Given the description of an element on the screen output the (x, y) to click on. 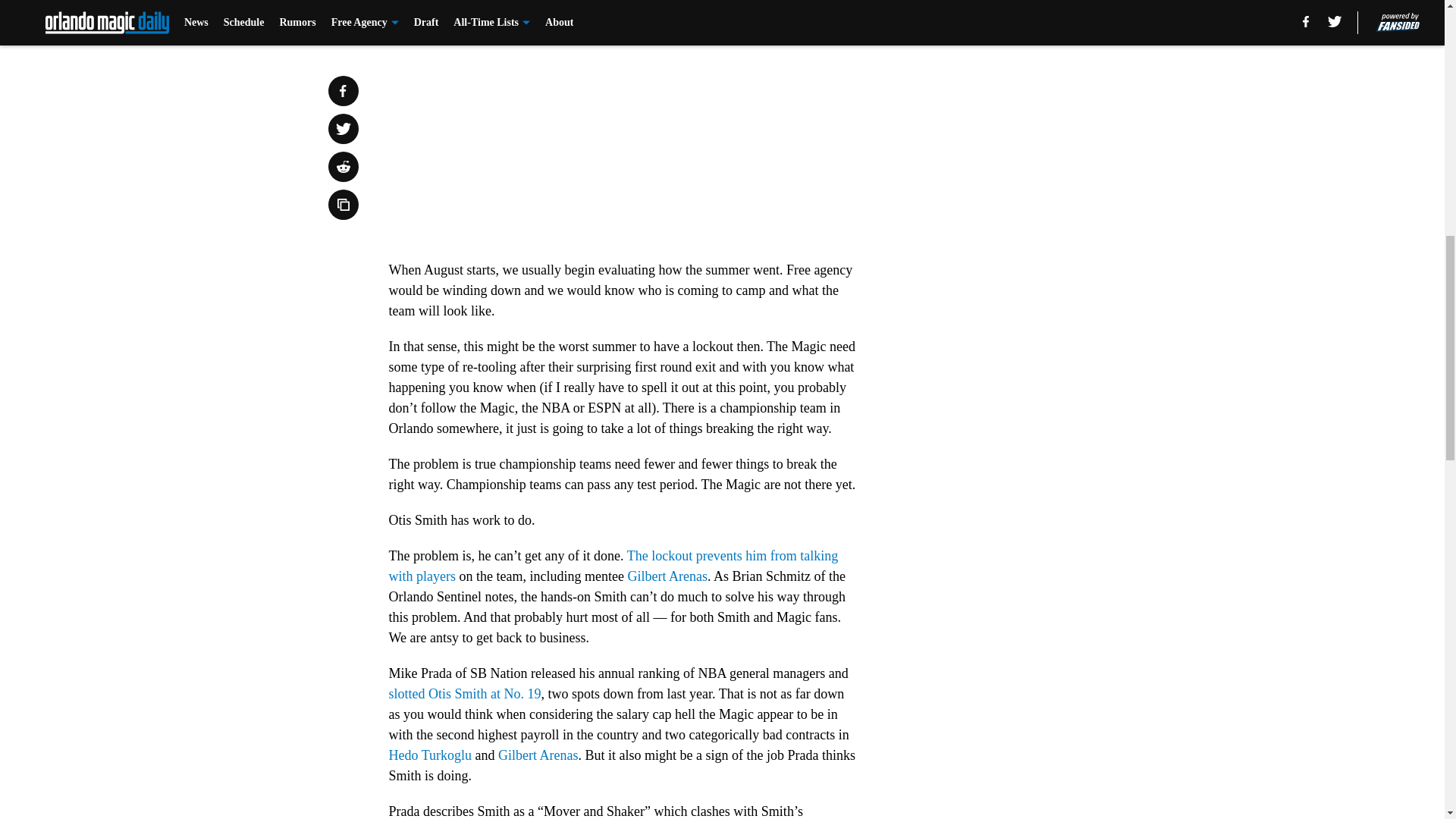
The lockout prevents him from talking with players (613, 565)
Gilbert Arenas (666, 575)
slotted Otis Smith at No. 19 (464, 693)
Gilbert Arenas (537, 754)
Hedo Turkoglu (429, 754)
